Given the description of an element on the screen output the (x, y) to click on. 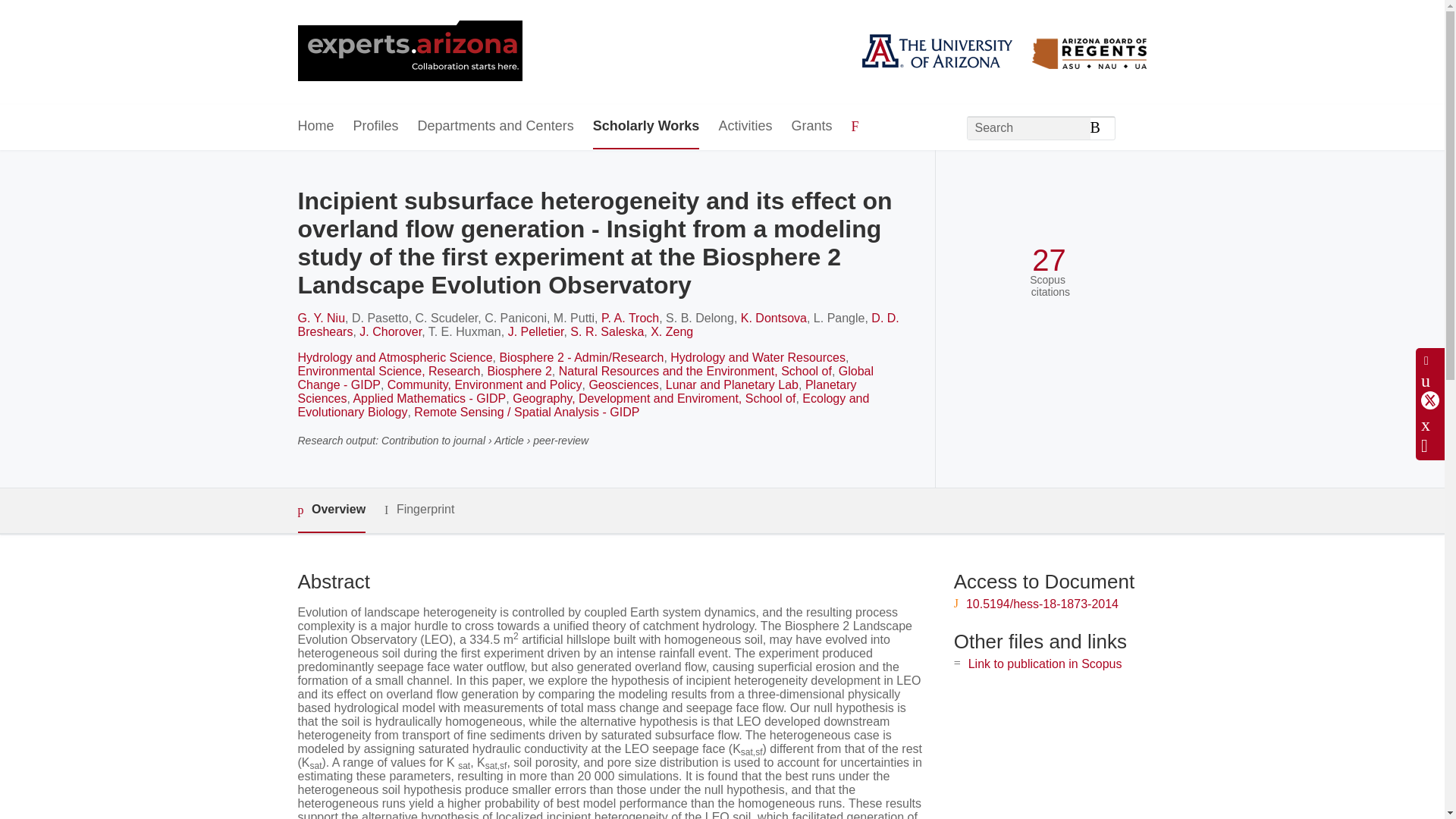
University of Arizona Home (409, 52)
Hydrology and Water Resources (757, 357)
Ecology and Evolutionary Biology (583, 405)
Hydrology and Atmospheric Science (394, 357)
Natural Resources and the Environment, School of (695, 370)
27 (1048, 260)
J. Chorover (390, 331)
Geography, Development and Enviroment, School of (653, 398)
Biosphere 2 (518, 370)
Global Change - GIDP (585, 377)
